Given the description of an element on the screen output the (x, y) to click on. 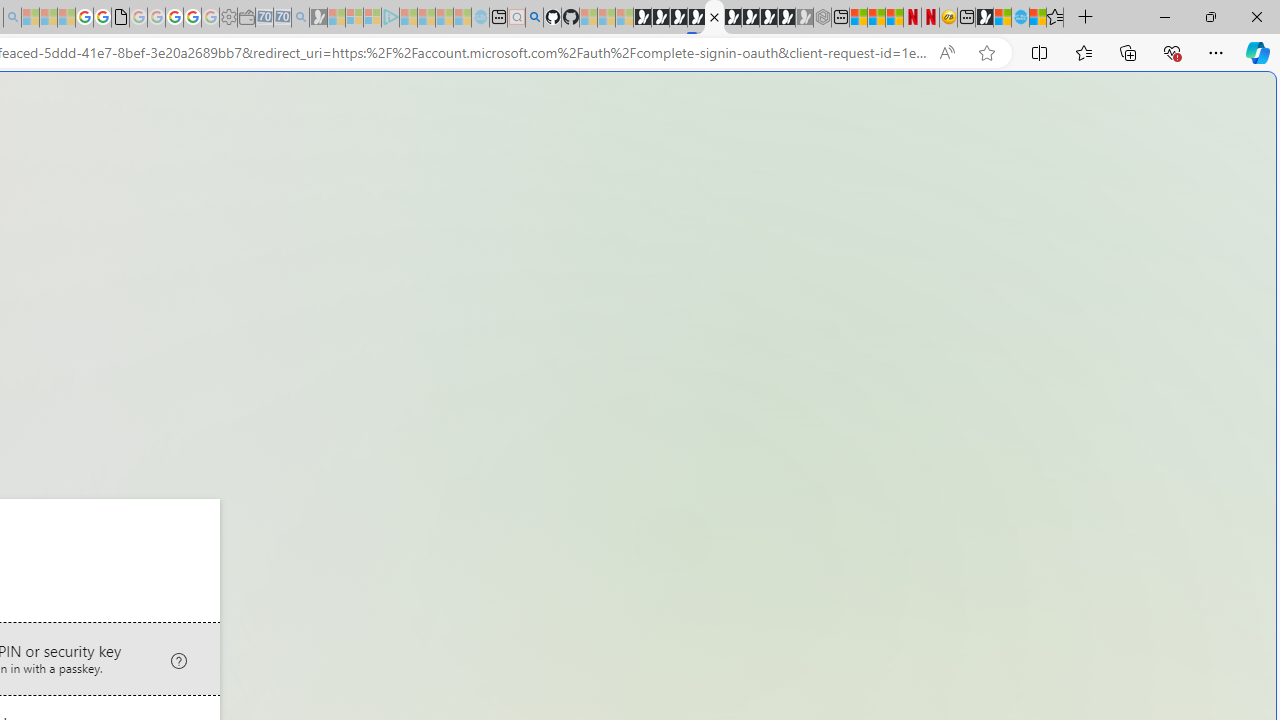
Search or enter web address (343, 191)
Settings - Sleeping (228, 17)
Close split screen (844, 102)
